Given the description of an element on the screen output the (x, y) to click on. 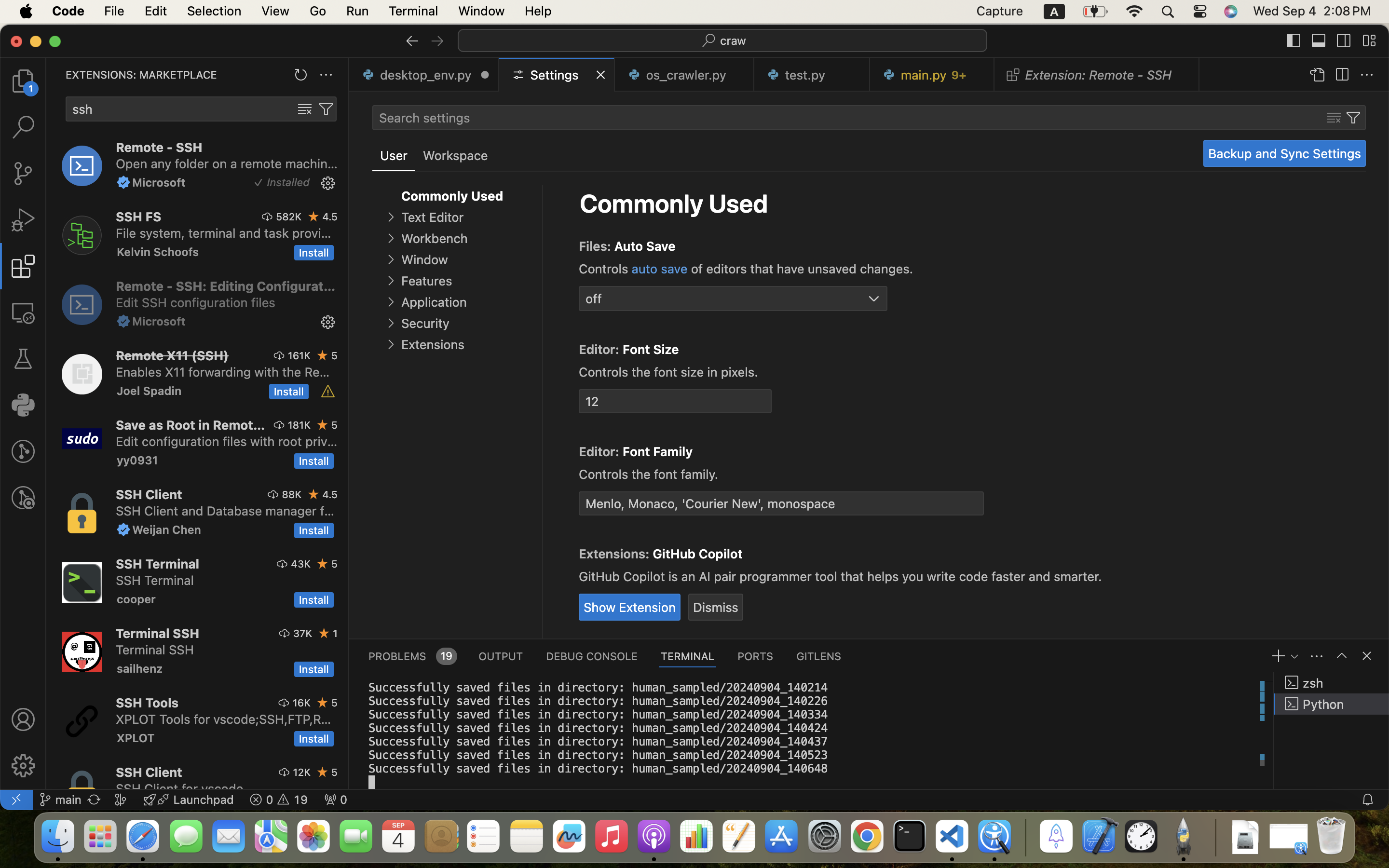
0 desktop_env.py   Element type: AXRadioButton (424, 74)
161K Element type: AXStaticText (298, 355)
Window Element type: AXStaticText (424, 259)
0  Element type: AXRadioButton (23, 173)
43K Element type: AXStaticText (300, 563)
